Given the description of an element on the screen output the (x, y) to click on. 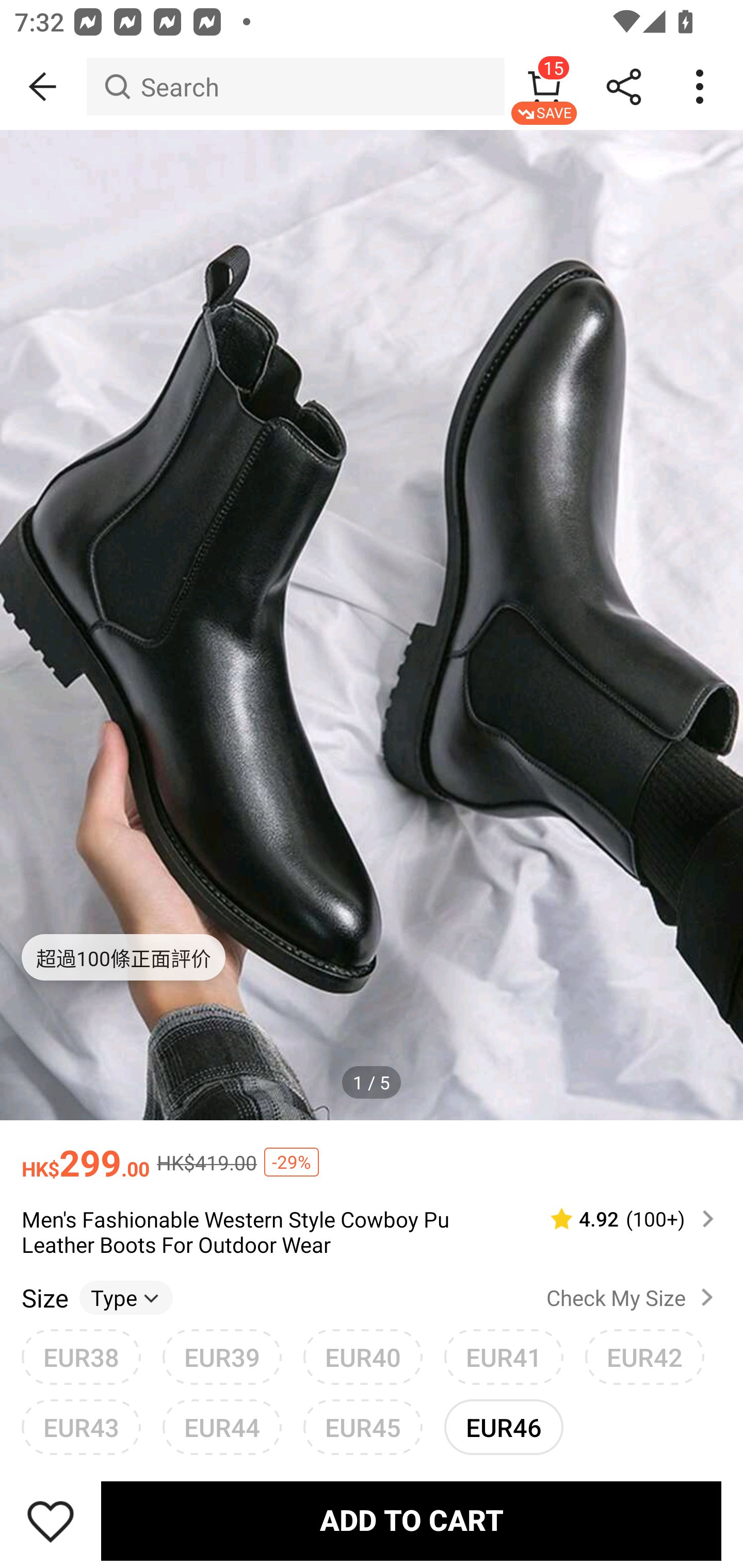
BACK (43, 86)
15 SAVE (543, 87)
Search (295, 87)
1 / 5 (371, 1082)
HK$299.00 HK$419.00 -29% (371, 1152)
4.92 (100‎+) (623, 1219)
Size (44, 1297)
Type (126, 1297)
Check My Size (633, 1297)
EUR38 EUR42 (81, 1356)
EUR39 EUR43 (221, 1356)
EUR40 EUR44 (362, 1356)
EUR41 EUR45 (503, 1356)
EUR42 EUR46 (644, 1356)
EUR43 (81, 1426)
EUR44 (221, 1426)
EUR45 (362, 1426)
EUR46 unselected option (503, 1426)
ADD TO CART (411, 1520)
Save (50, 1520)
